Given the description of an element on the screen output the (x, y) to click on. 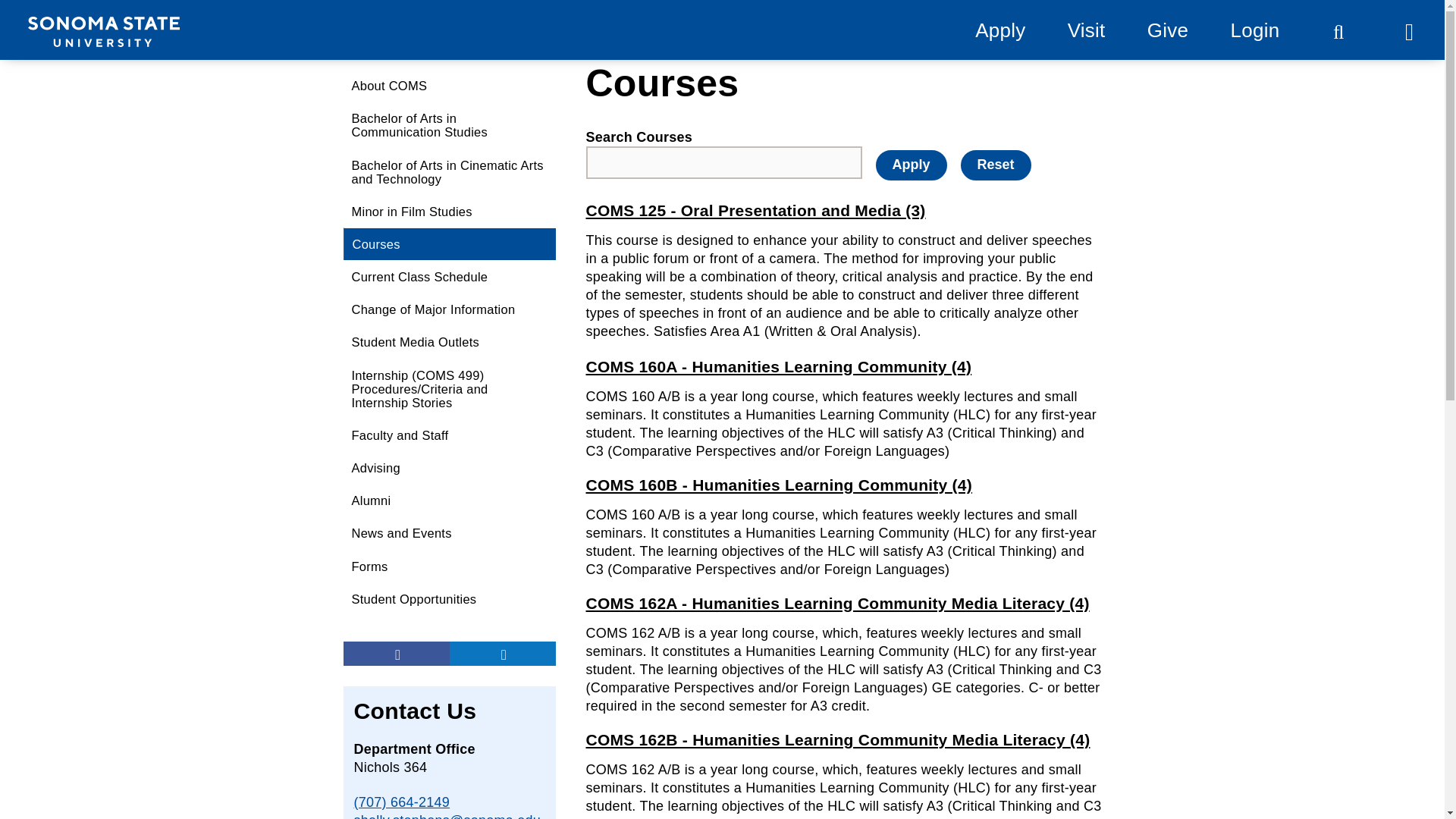
Follow us on Twitter (501, 653)
Apply (1000, 30)
Follow us on Facebook (395, 653)
Apply (910, 164)
Reset (995, 164)
Give (1167, 30)
Visit (1086, 30)
Jump to content (69, 19)
Login (1254, 30)
